Given the description of an element on the screen output the (x, y) to click on. 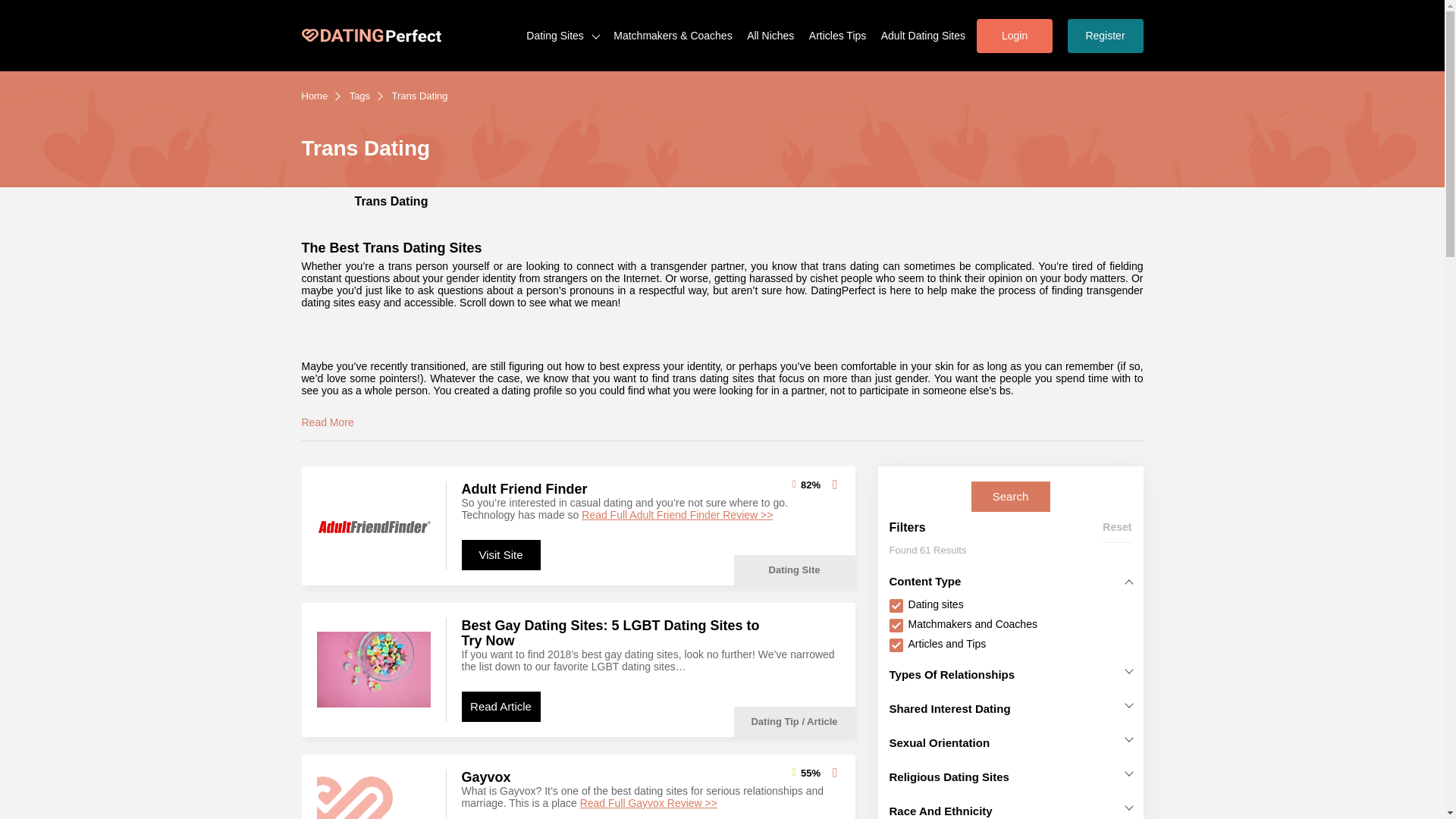
Dating Sites (561, 35)
Adult Friend Finder (523, 488)
Register (1104, 35)
Read Article (500, 706)
Articles Tips (837, 35)
Adult Dating Sites (922, 35)
Visit Site (500, 554)
Login (1014, 35)
Gayvox (486, 776)
DatingPerfect (371, 35)
